Given the description of an element on the screen output the (x, y) to click on. 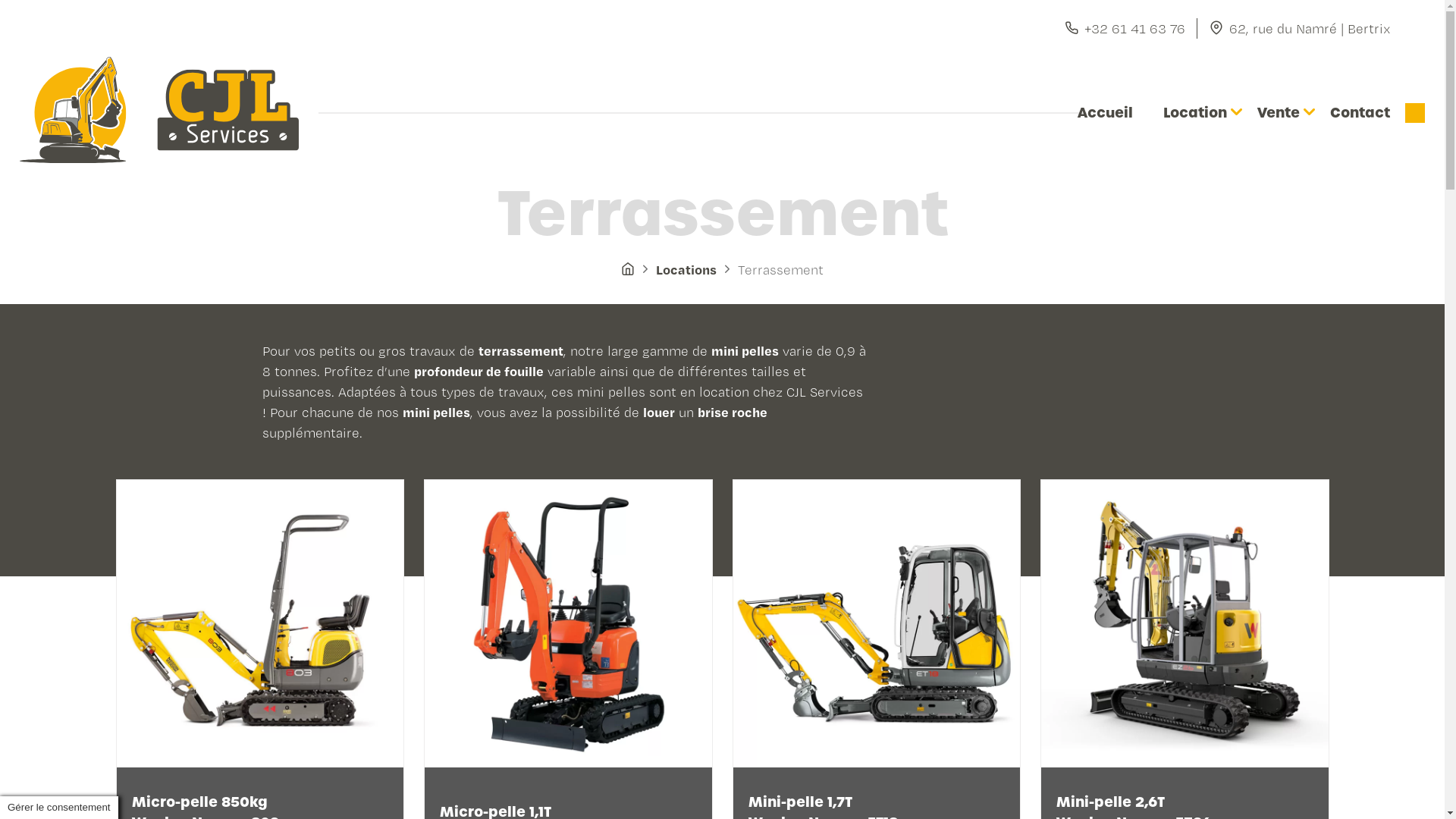
+32 61 41 63 76 Element type: text (1124, 28)
Accueil Element type: text (1104, 112)
Location Element type: text (1194, 112)
Vente Element type: text (1278, 112)
Locations Element type: text (685, 269)
Contact Element type: text (1360, 112)
